Given the description of an element on the screen output the (x, y) to click on. 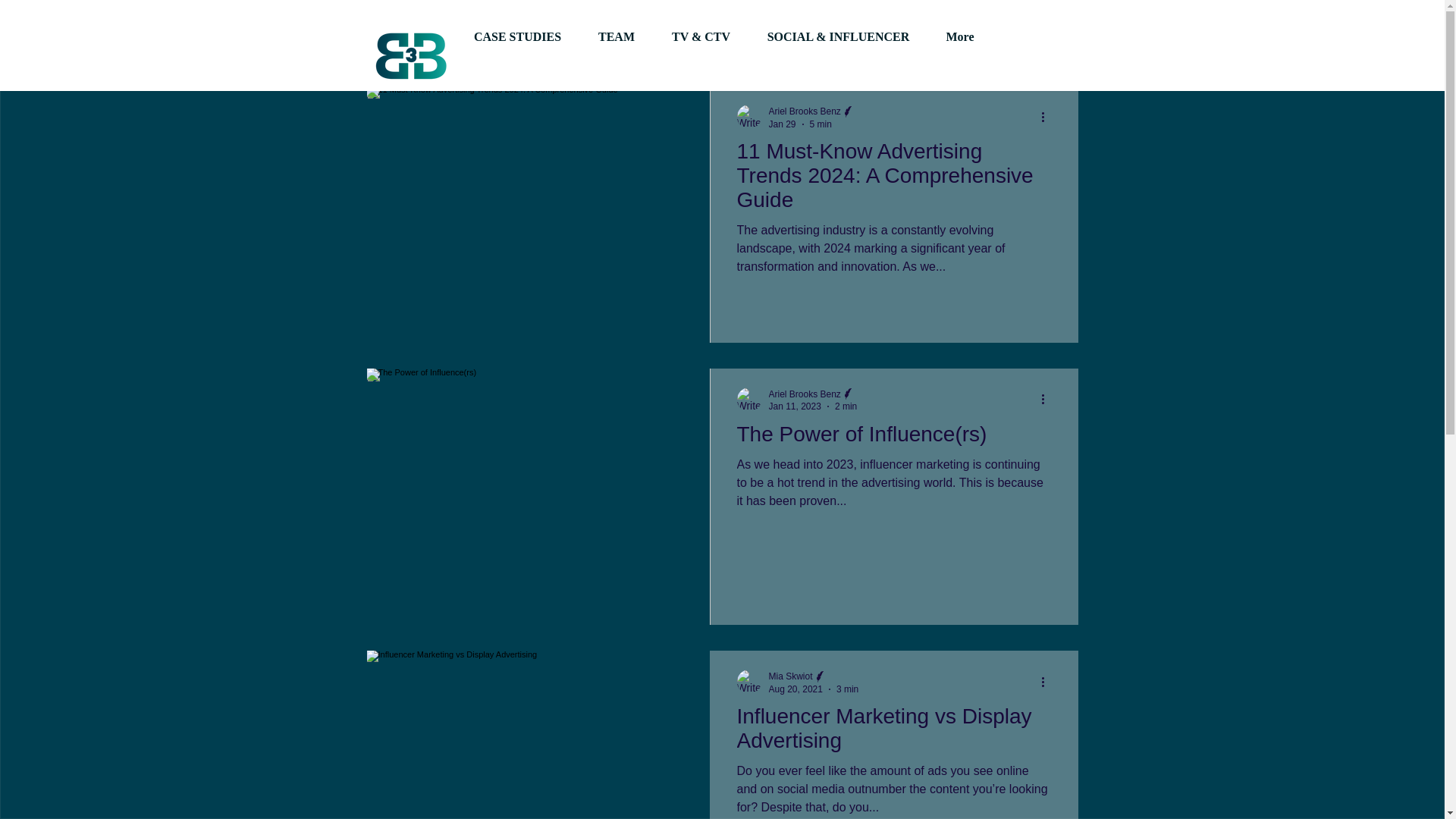
Influencer Marketing vs Display Advertising (893, 732)
Jan 11, 2023 (794, 406)
CASE STUDIES (516, 36)
Ariel Brooks Benz (804, 393)
Ariel Brooks Benz (804, 111)
5 min (820, 122)
11 Must-Know Advertising Trends 2024: A Comprehensive Guide (893, 179)
Jan 29 (782, 122)
2 min (845, 406)
Aug 20, 2021 (795, 688)
3 min (847, 688)
Mia Skwiot (790, 675)
TEAM (615, 36)
